Given the description of an element on the screen output the (x, y) to click on. 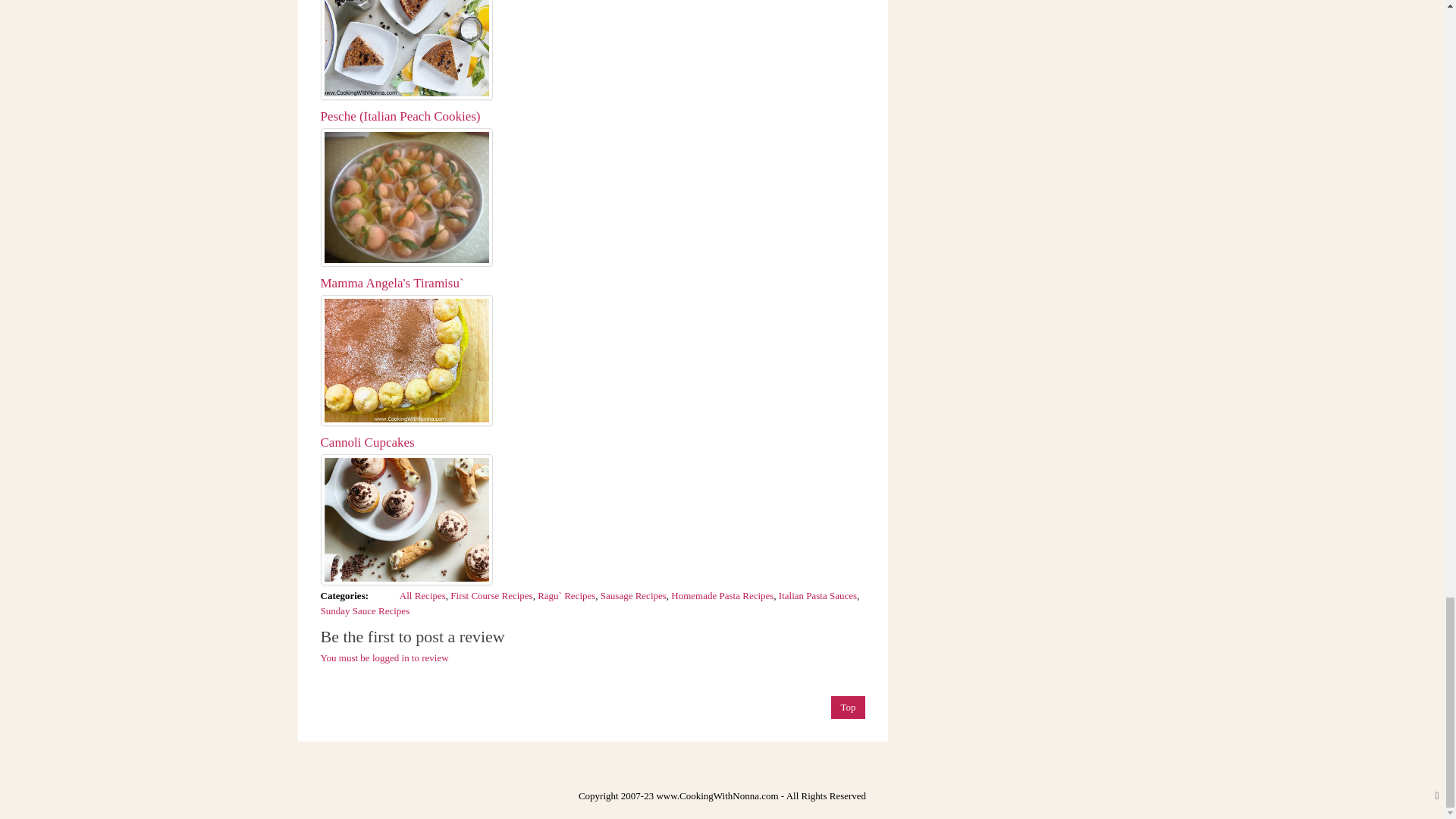
Ricotta Espresso Mousse Cake (406, 49)
